Given the description of an element on the screen output the (x, y) to click on. 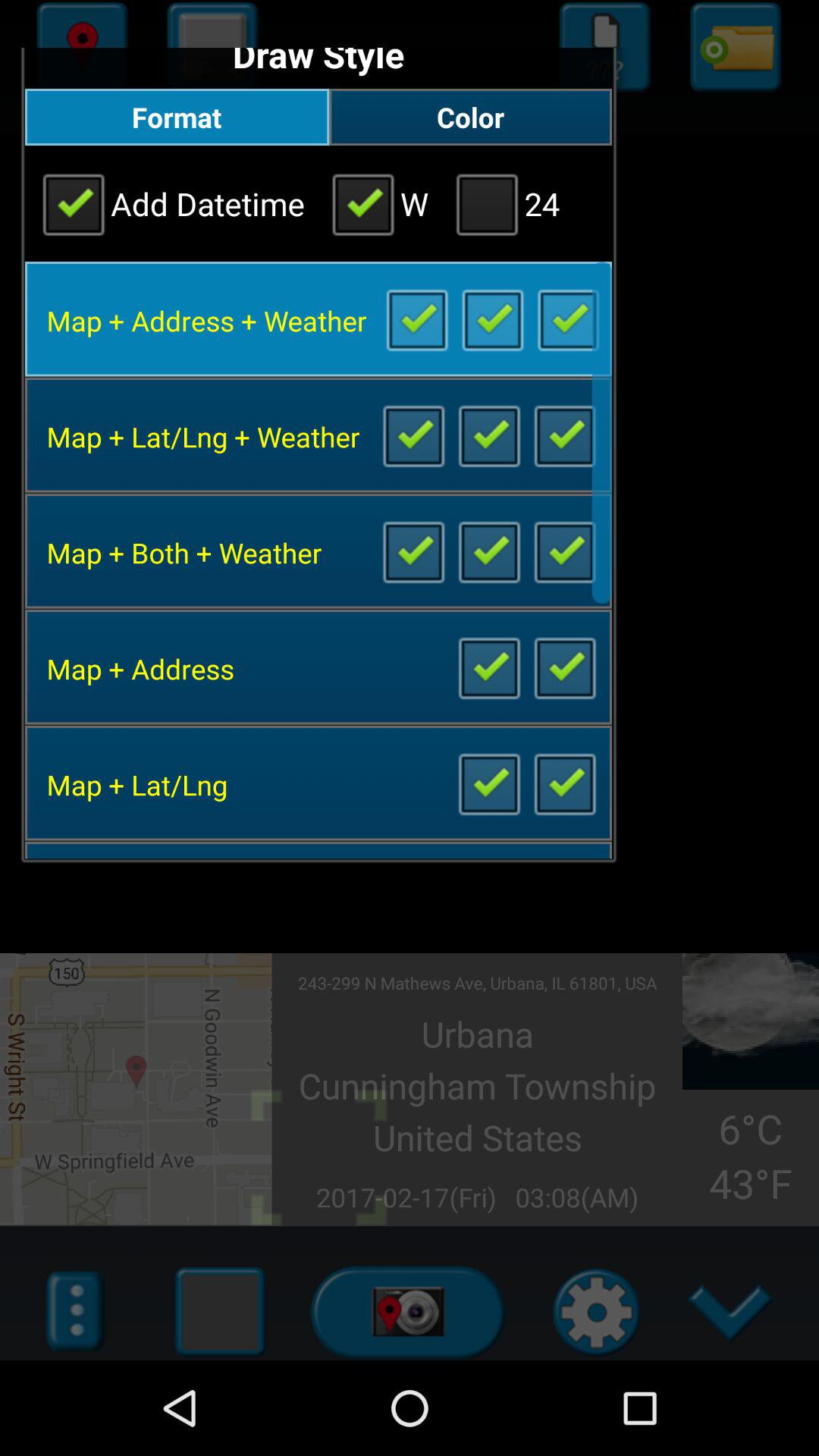
uncheck (564, 666)
